Given the description of an element on the screen output the (x, y) to click on. 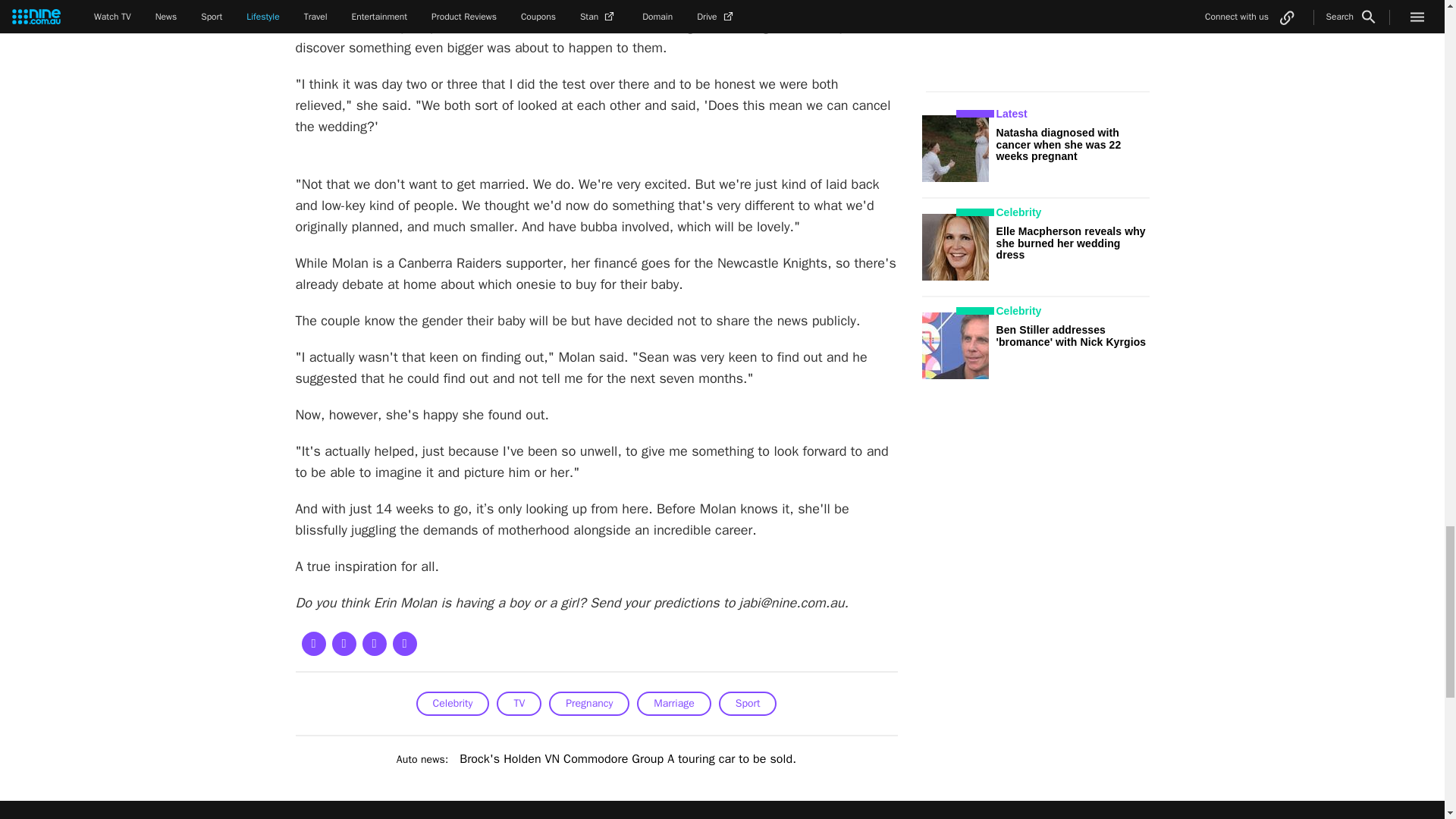
Marriage (673, 703)
TV (518, 703)
Sport (748, 703)
Pregnancy (588, 703)
Celebrity (452, 703)
